Given the description of an element on the screen output the (x, y) to click on. 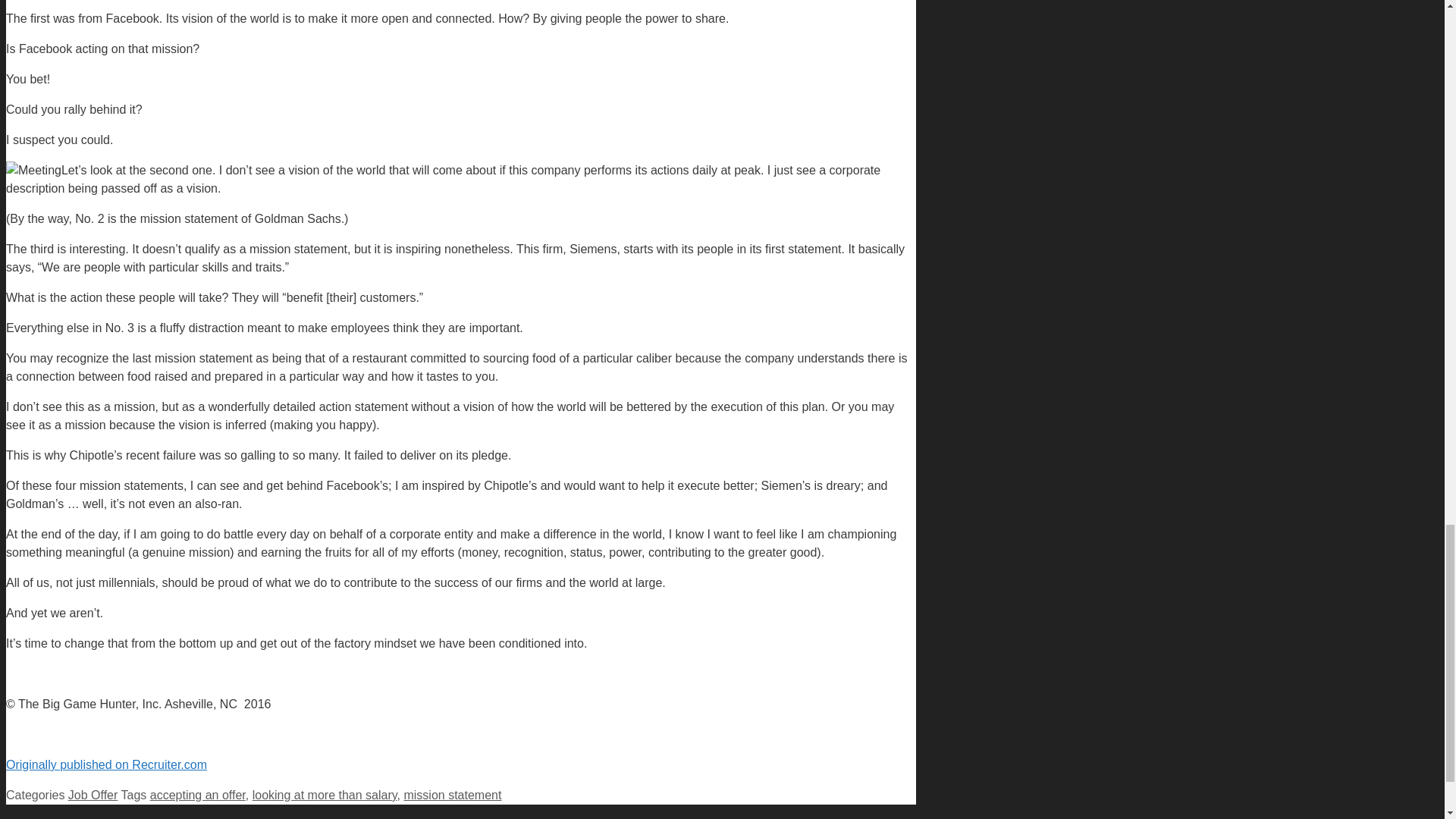
Originally published on Recruiter.com (105, 764)
Job Offer (92, 794)
mission statement (451, 794)
looking at more than salary (324, 794)
accepting an offer (197, 794)
